Given the description of an element on the screen output the (x, y) to click on. 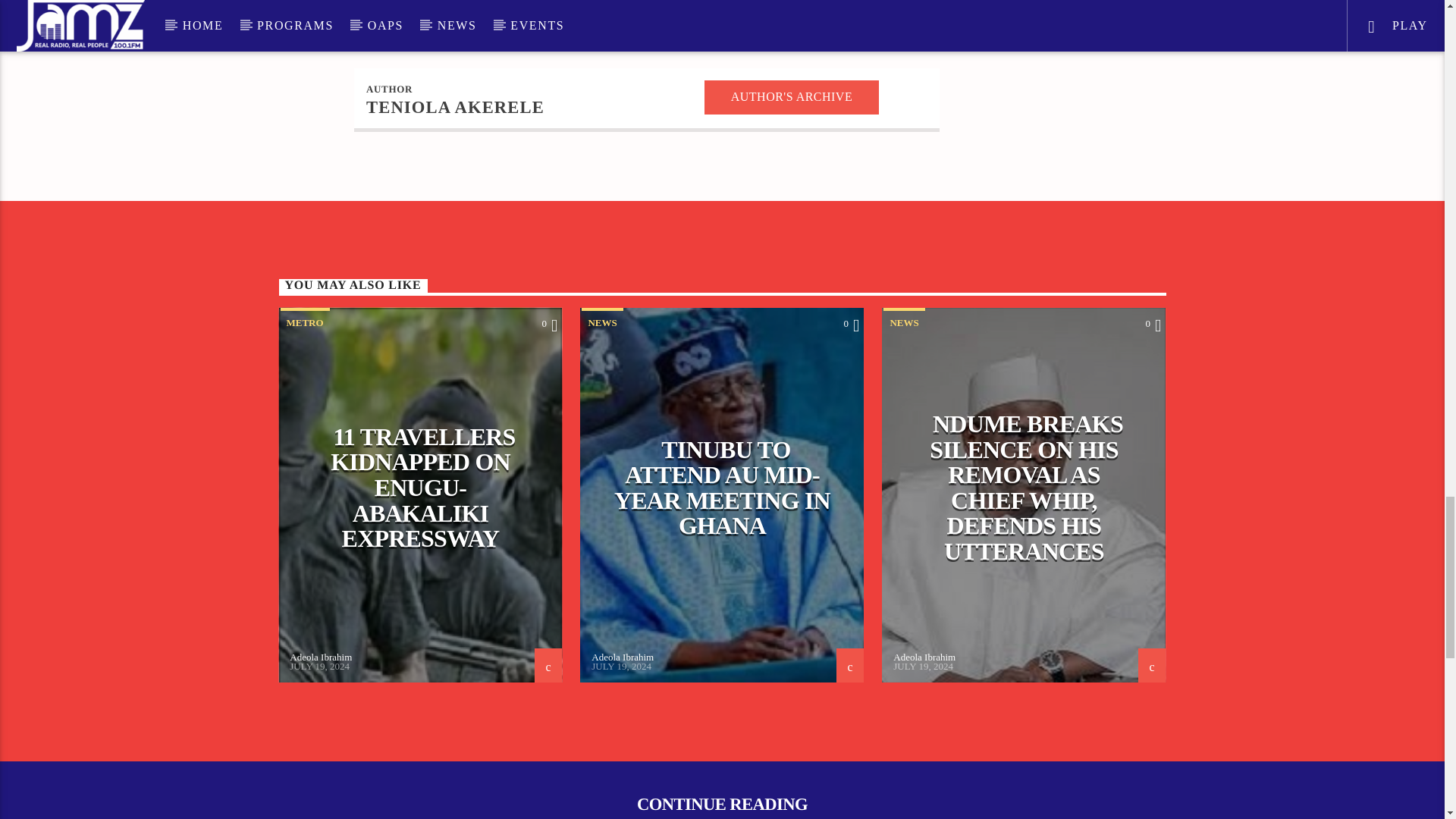
DONALD TRUMP (472, 17)
TENIOLA AKERELE (455, 107)
AUTHOR'S ARCHIVE (791, 97)
Posts by Adeola Ibrahim (320, 656)
Posts by Adeola Ibrahim (622, 656)
Posts by Adeola Ibrahim (924, 656)
